Given the description of an element on the screen output the (x, y) to click on. 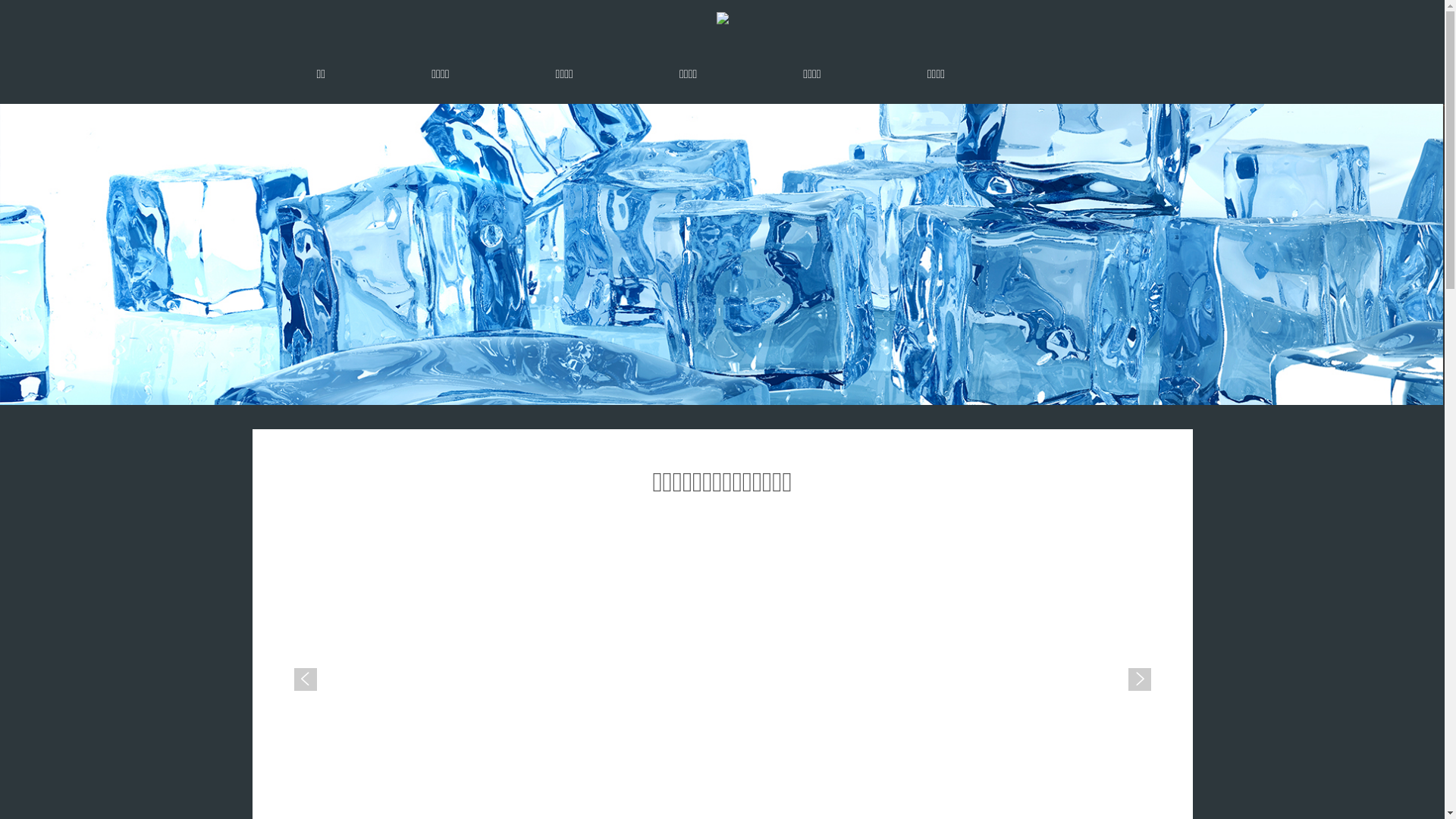
logo Element type: hover (721, 18)
